Given the description of an element on the screen output the (x, y) to click on. 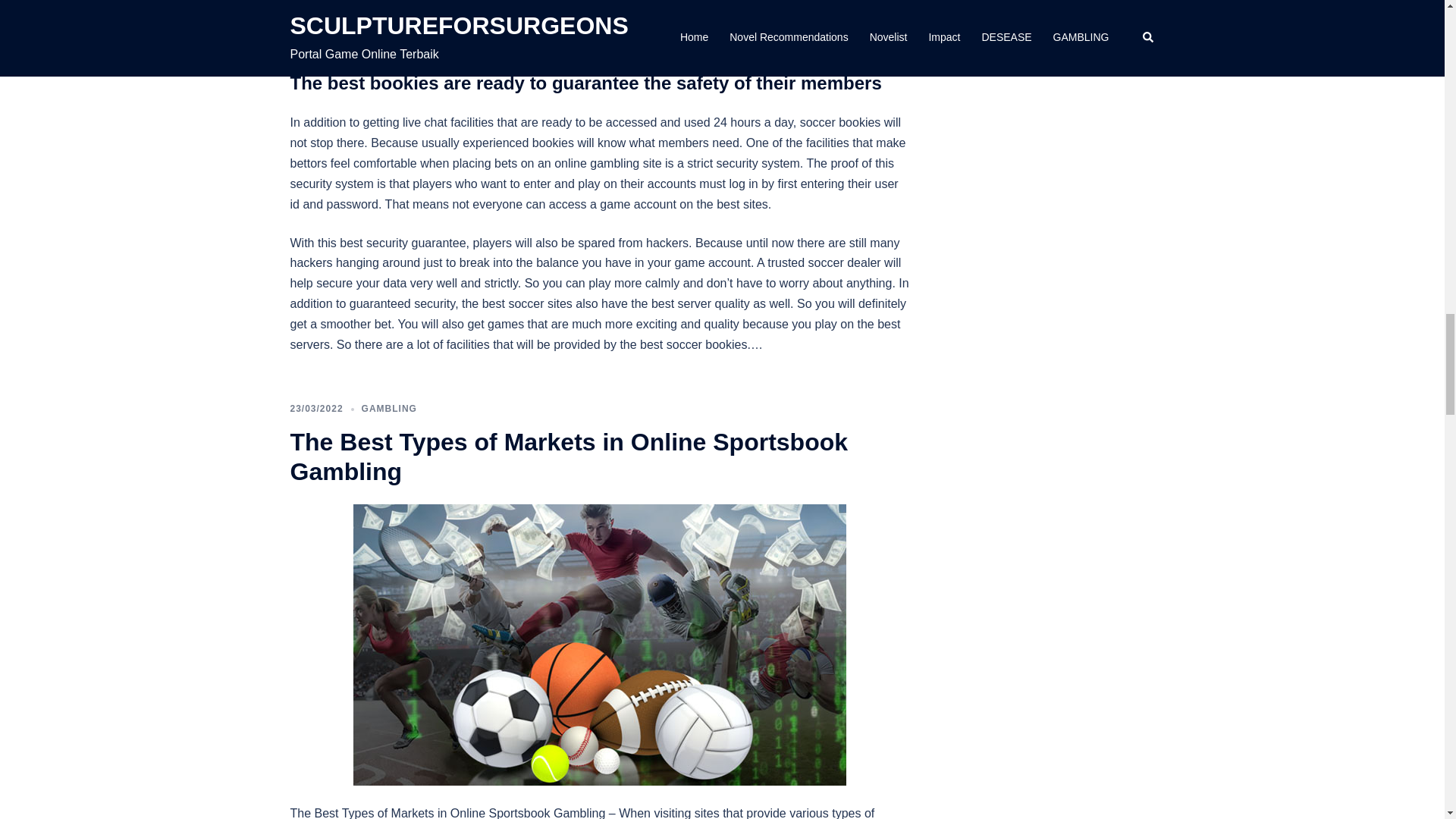
The Best Types of Markets in Online Sportsbook Gambling (568, 456)
GAMBLING (388, 408)
The Best Types of Markets in Online Sportsbook Gambling (599, 644)
